Given the description of an element on the screen output the (x, y) to click on. 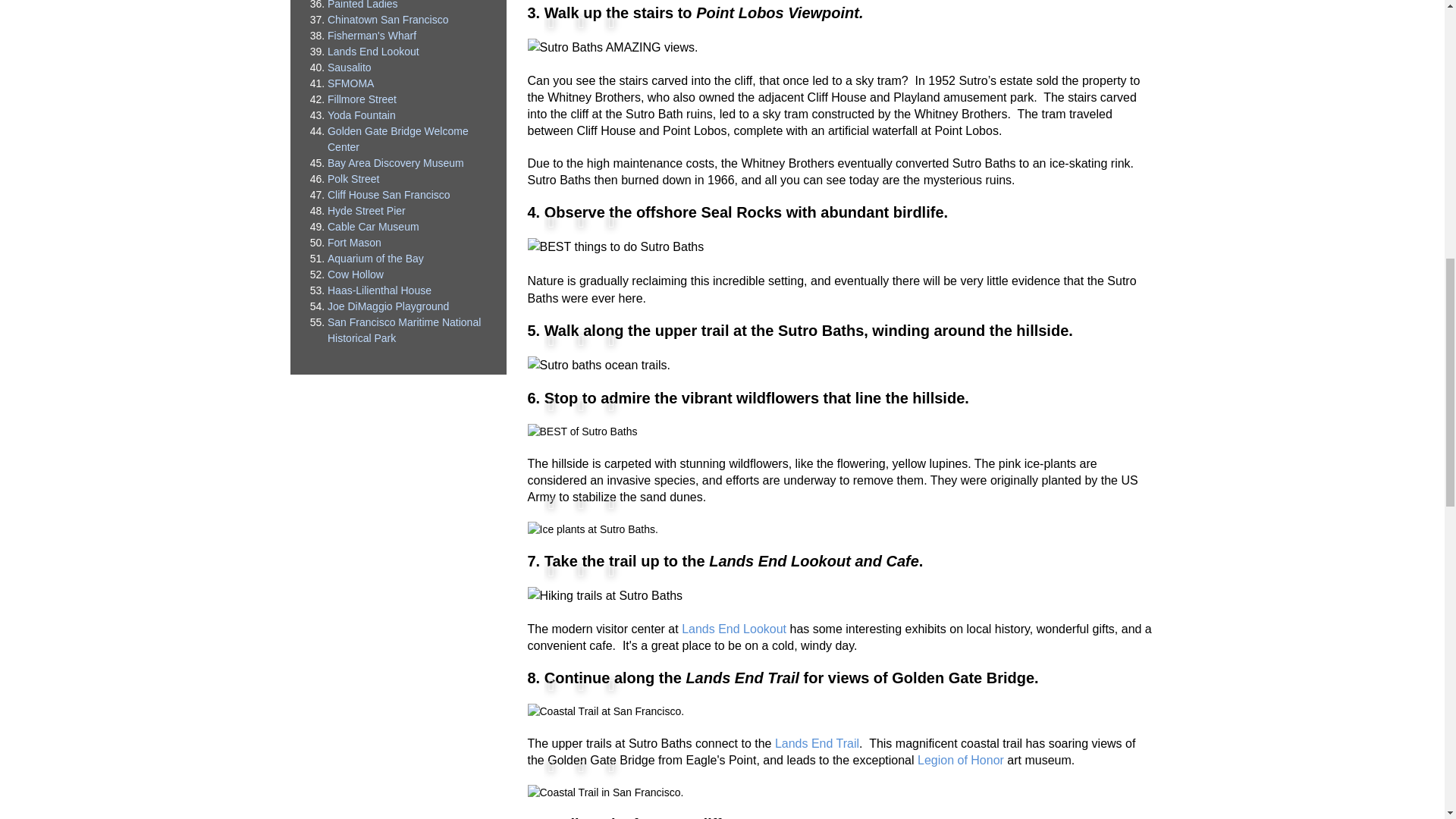
Sutro baths ocean trails. (599, 365)
BEST of Sutro Baths (582, 431)
Coastal Trail at San Francisco. (605, 711)
BEST things to do Sutro Baths (615, 247)
Sutro Baths AMAZING views. (612, 47)
